Given the description of an element on the screen output the (x, y) to click on. 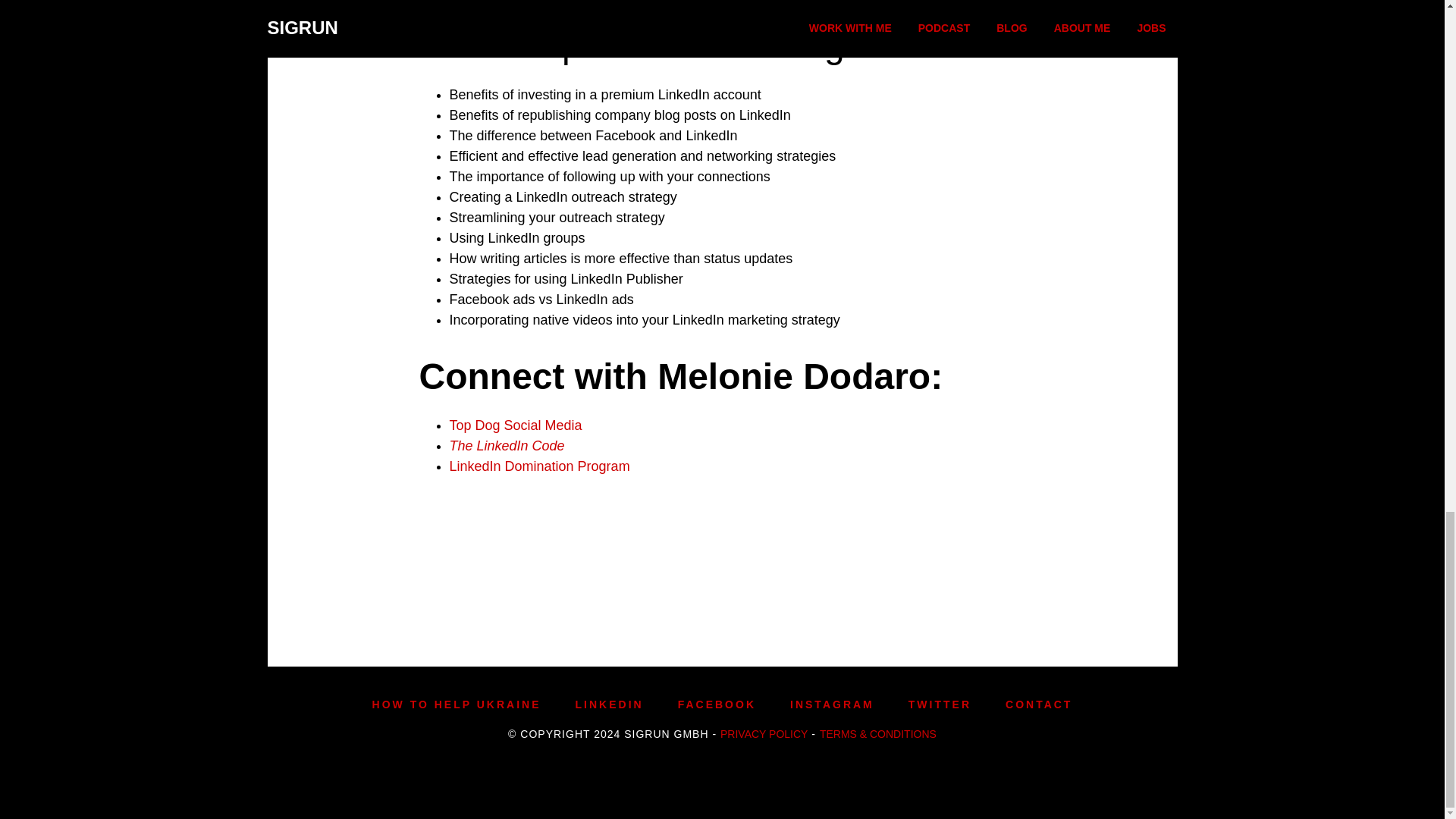
HOW TO HELP UKRAINE (456, 704)
LINKEDIN (609, 704)
CONTACT (1038, 704)
The LinkedIn Code (506, 445)
INSTAGRAM (832, 704)
LinkedIn Domination Program (538, 466)
FACEBOOK (716, 704)
TWITTER (939, 704)
PRIVACY POLICY (764, 734)
Top Dog Social Media (514, 425)
